Given the description of an element on the screen output the (x, y) to click on. 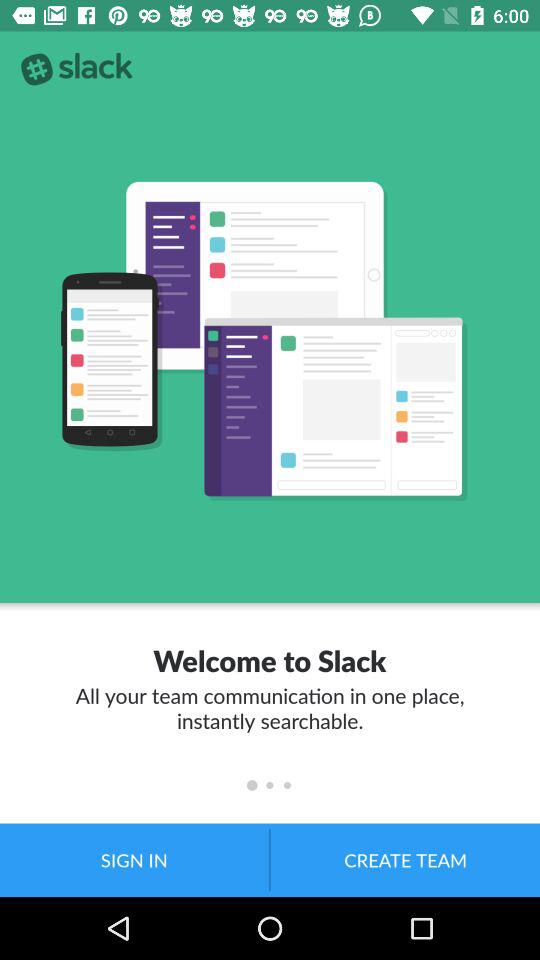
jump until sign in item (134, 859)
